Given the description of an element on the screen output the (x, y) to click on. 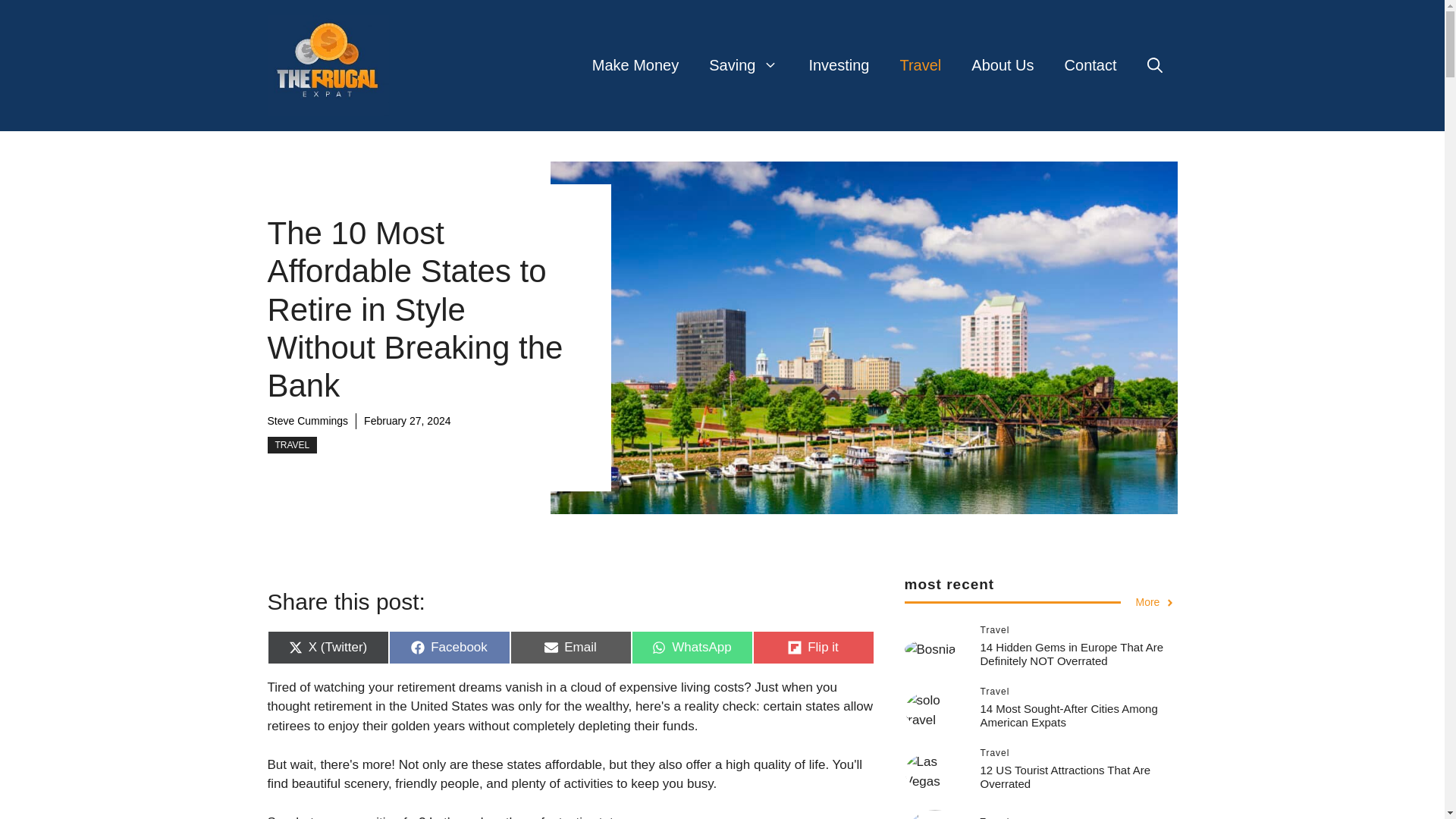
More (1155, 602)
Steve Cummings (306, 420)
14 Hidden Gems in Europe That Are Definitely NOT Overrated (1071, 653)
About Us (448, 647)
Travel (1002, 64)
Make Money (919, 64)
TRAVEL (635, 64)
